Given the description of an element on the screen output the (x, y) to click on. 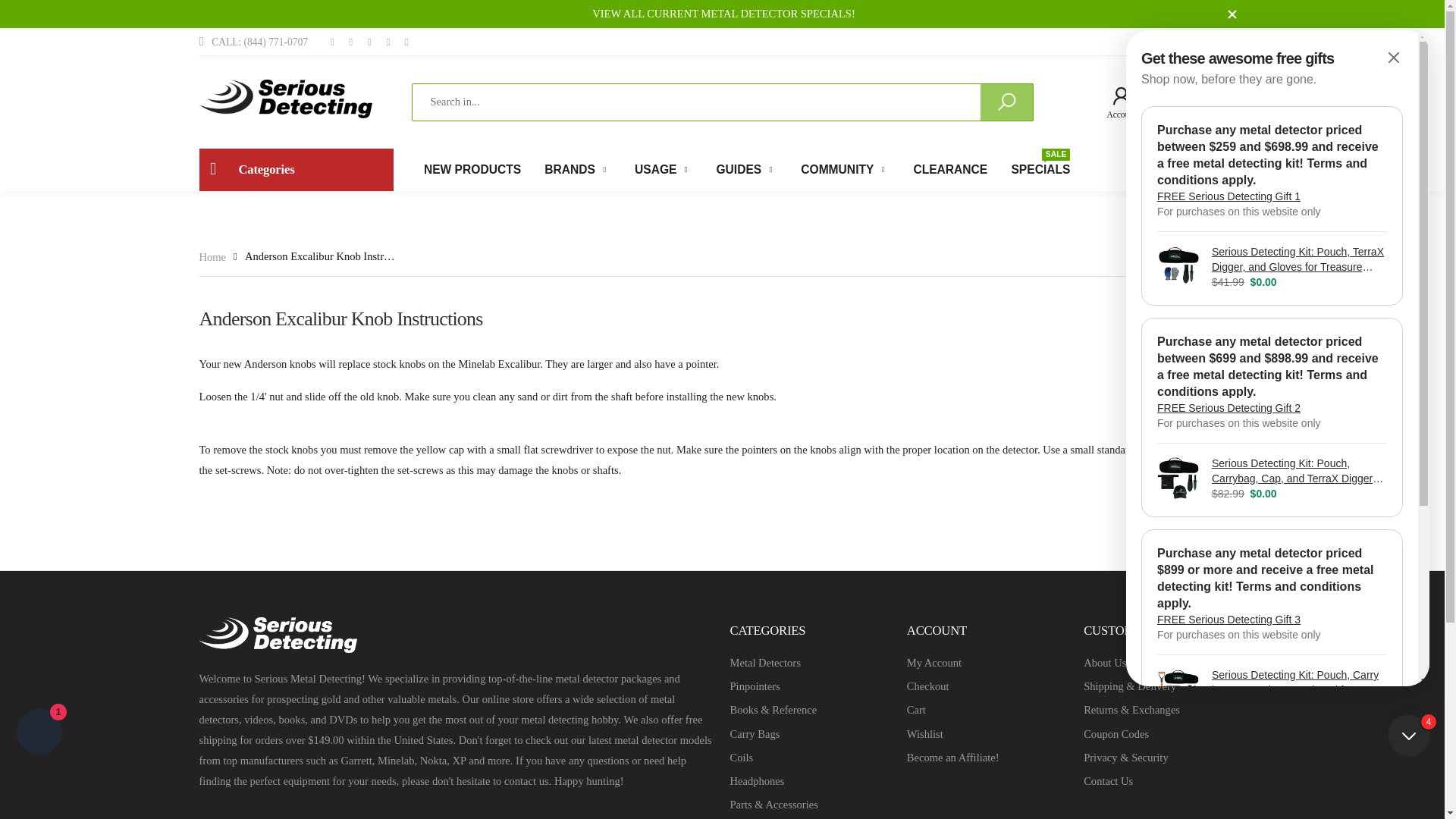
Account (1115, 102)
NEW PRODUCTS (472, 169)
VIEW ALL CURRENT METAL DETECTOR SPECIALS! (1219, 102)
Categories (723, 13)
Categories (295, 169)
LOGIN (295, 169)
BRANDS (1223, 41)
Home (577, 169)
Shopify online store chat (1167, 102)
